Given the description of an element on the screen output the (x, y) to click on. 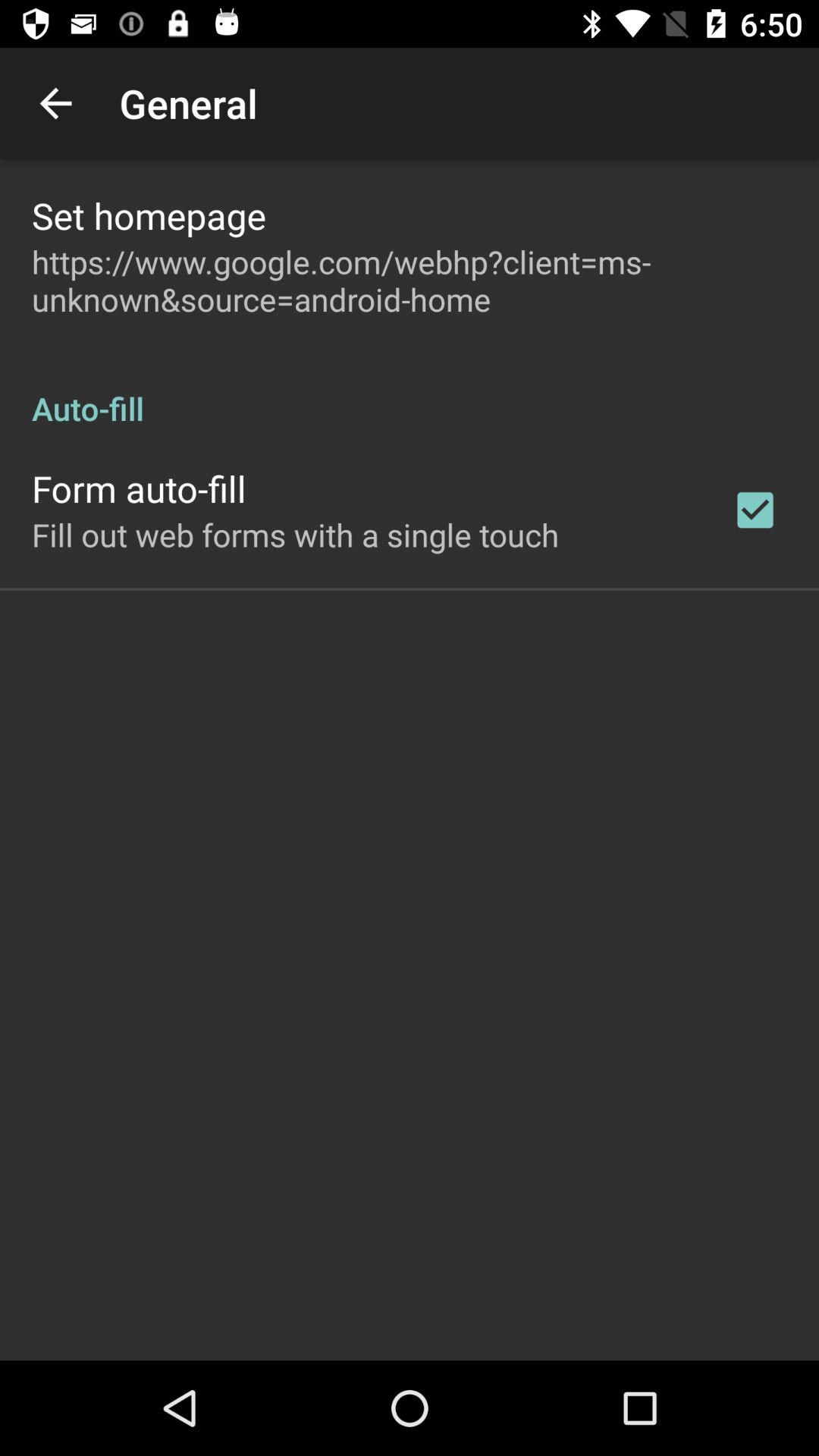
launch the icon below the set homepage (409, 280)
